Given the description of an element on the screen output the (x, y) to click on. 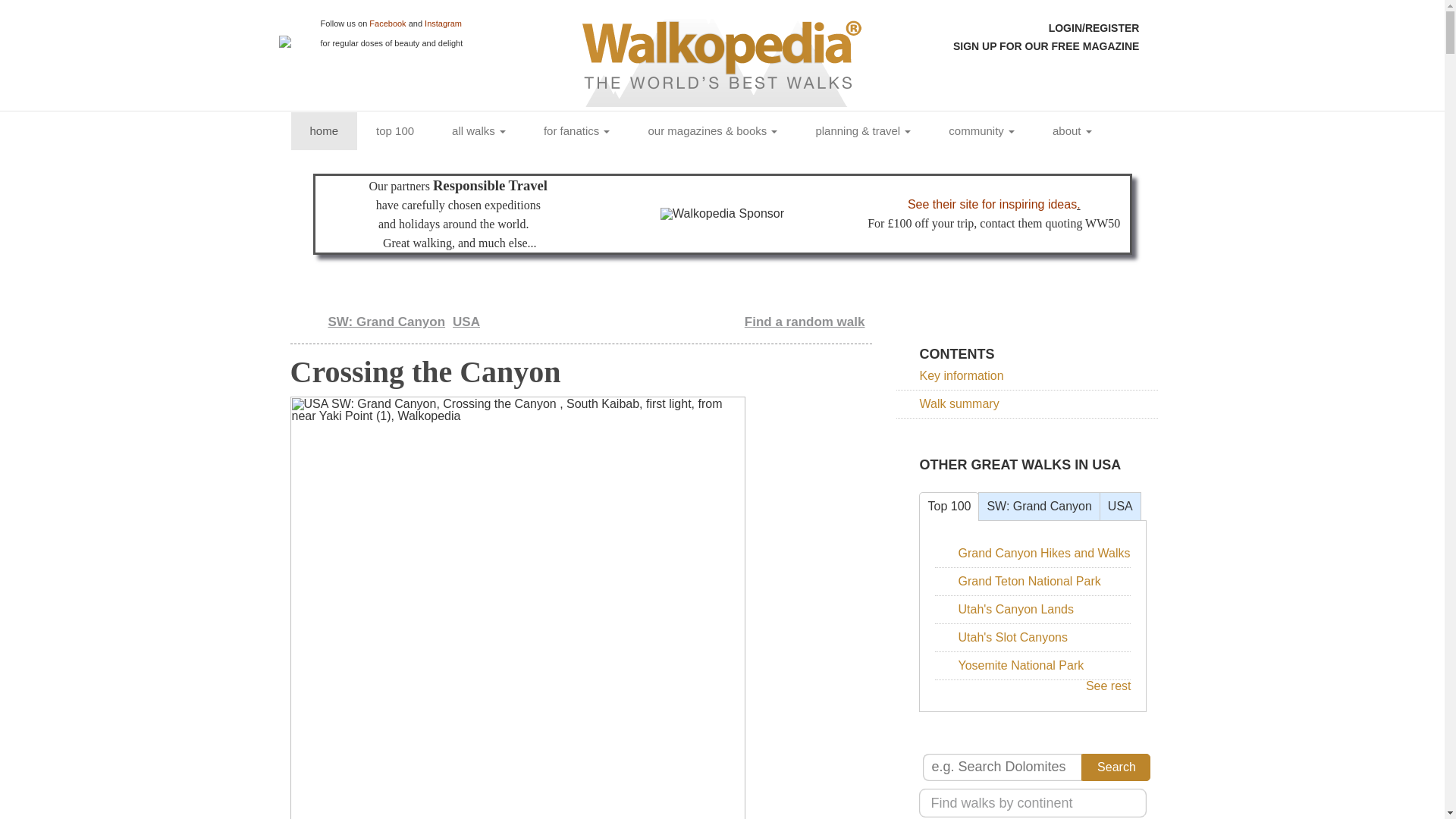
SIGN UP FOR OUR FREE MAGAZINE (1059, 45)
top 100 (394, 130)
for fanatics (576, 130)
Search (1115, 767)
Facebook (387, 22)
community (981, 130)
all walks (478, 130)
Instagram (443, 22)
Search (1115, 767)
